Given the description of an element on the screen output the (x, y) to click on. 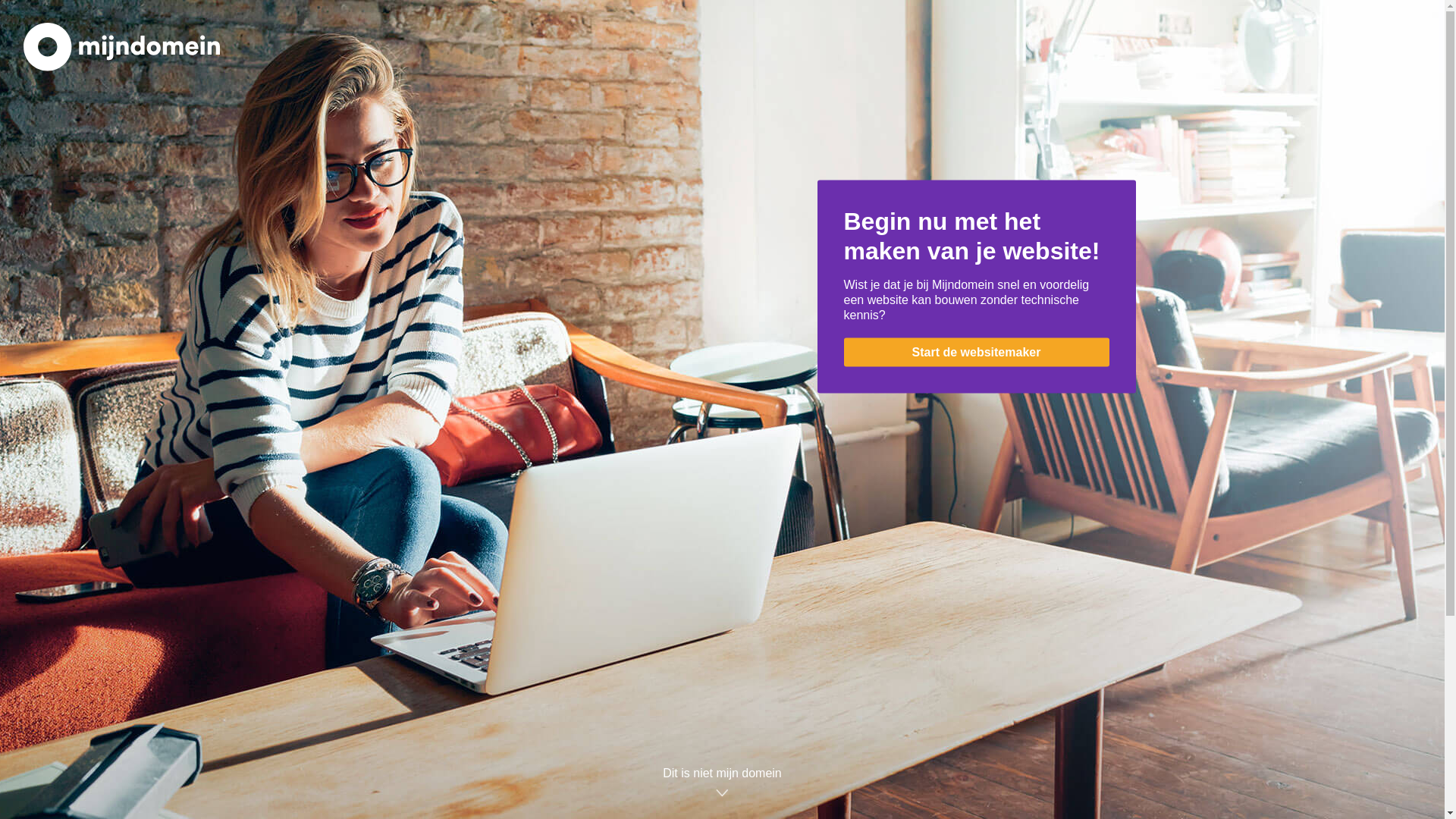
Dit is niet mijn domein Element type: text (721, 784)
Start de websitemaker Element type: text (975, 352)
